Given the description of an element on the screen output the (x, y) to click on. 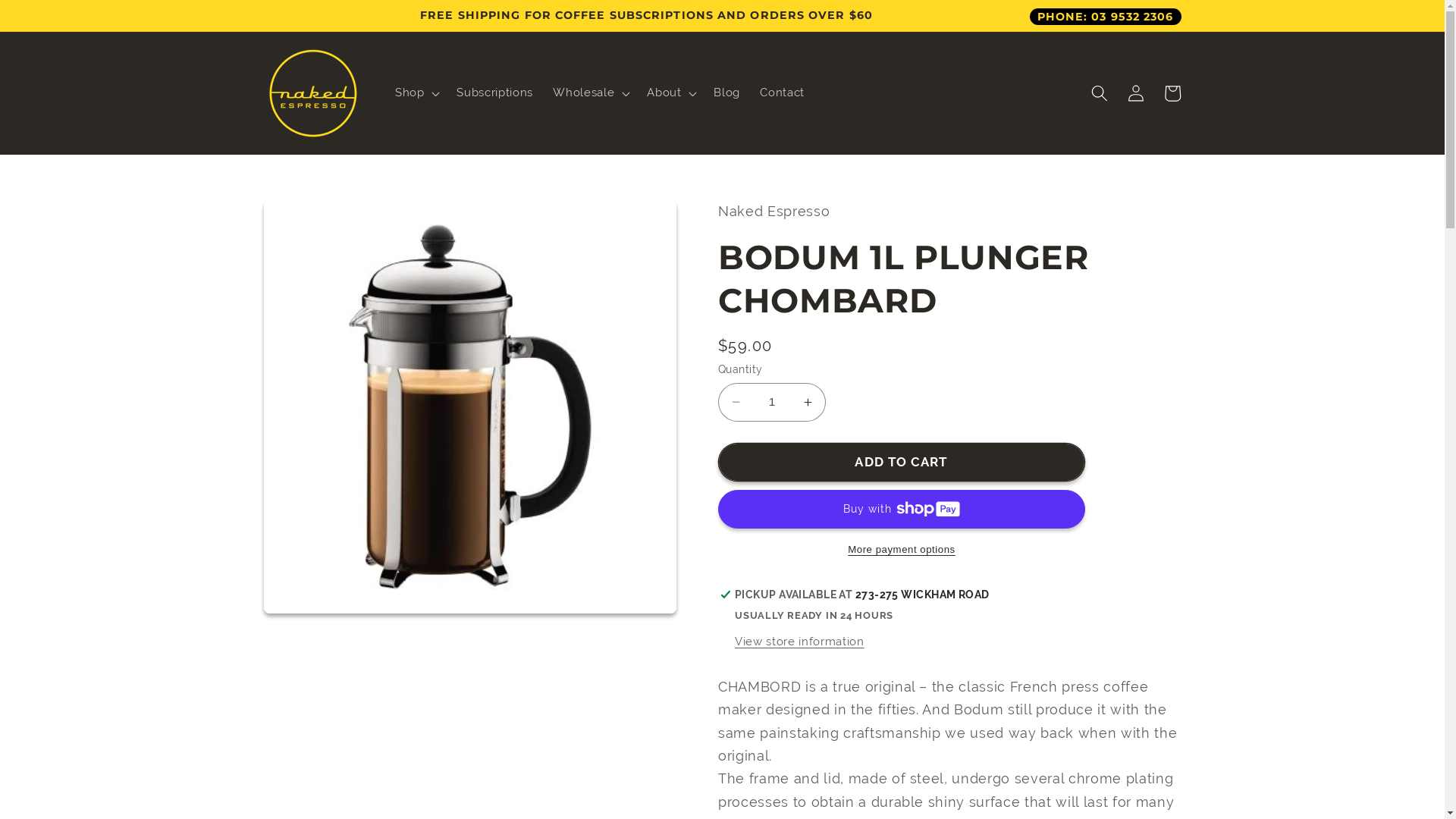
Subscriptions Element type: text (494, 92)
Decrease quantity for BODUM 1L PLUNGER CHOMBARD Element type: text (735, 402)
Skip to product information Element type: text (313, 218)
Contact Element type: text (781, 92)
ADD TO CART Element type: text (901, 462)
More payment options Element type: text (901, 549)
Cart Element type: text (1172, 93)
PHONE: 03 9532 2306 Element type: text (1105, 15)
Log in Element type: text (1135, 93)
Blog Element type: text (726, 92)
Increase quantity for BODUM 1L PLUNGER CHOMBARD Element type: text (807, 402)
View store information Element type: text (799, 641)
